Given the description of an element on the screen output the (x, y) to click on. 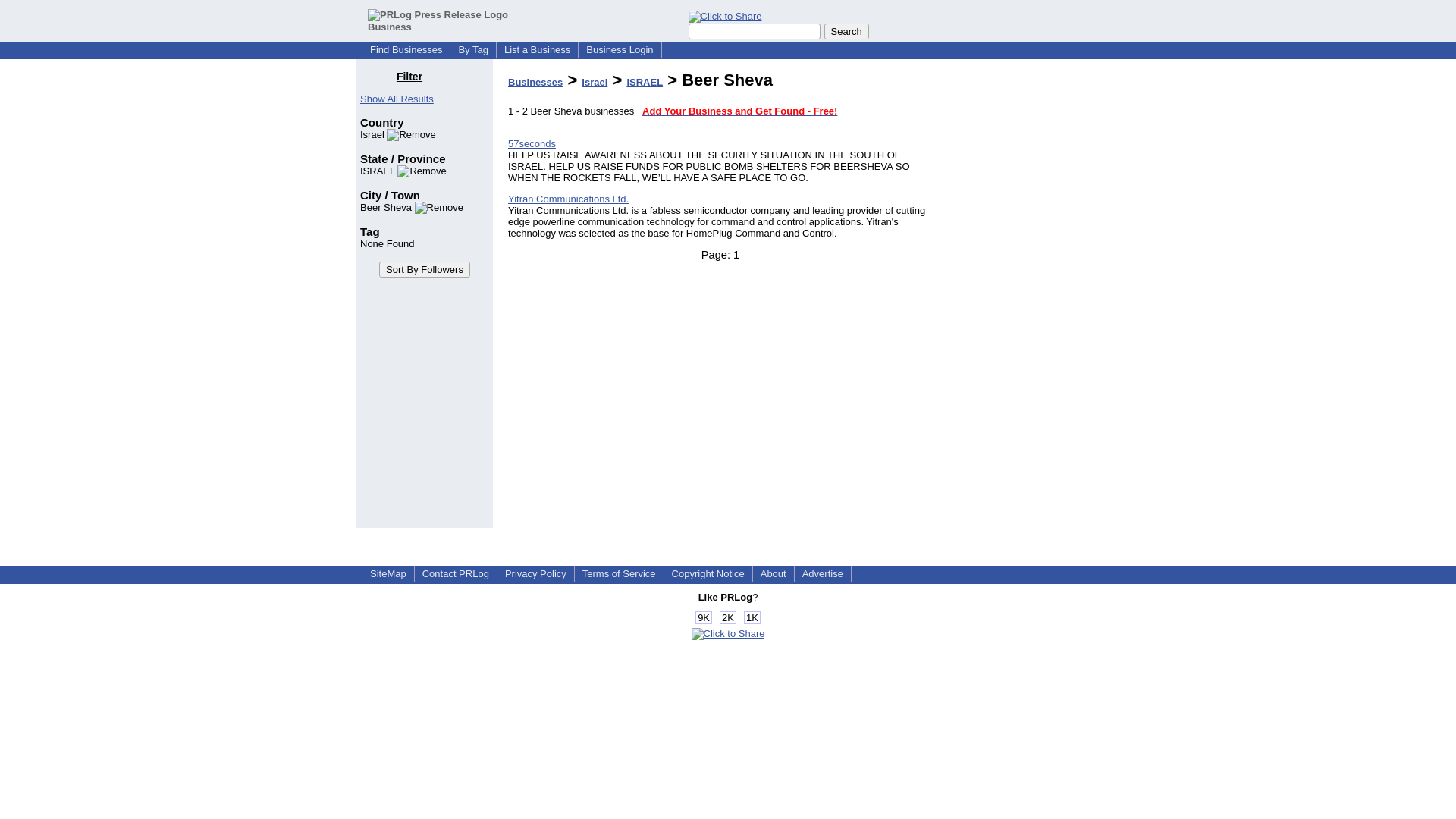
Find Businesses (406, 49)
Business Login (619, 49)
Show All Results (396, 98)
By Tag (473, 49)
Click to remove this filter (402, 170)
Terms of Service (619, 573)
Businesses (535, 81)
Advertise (822, 573)
Contact PRLog (455, 573)
Click to see the index with all filters cleared (396, 98)
ISRAEL (402, 170)
57seconds (532, 143)
Click to remove this filter (397, 134)
Share this page! (724, 16)
Israel (593, 81)
